Given the description of an element on the screen output the (x, y) to click on. 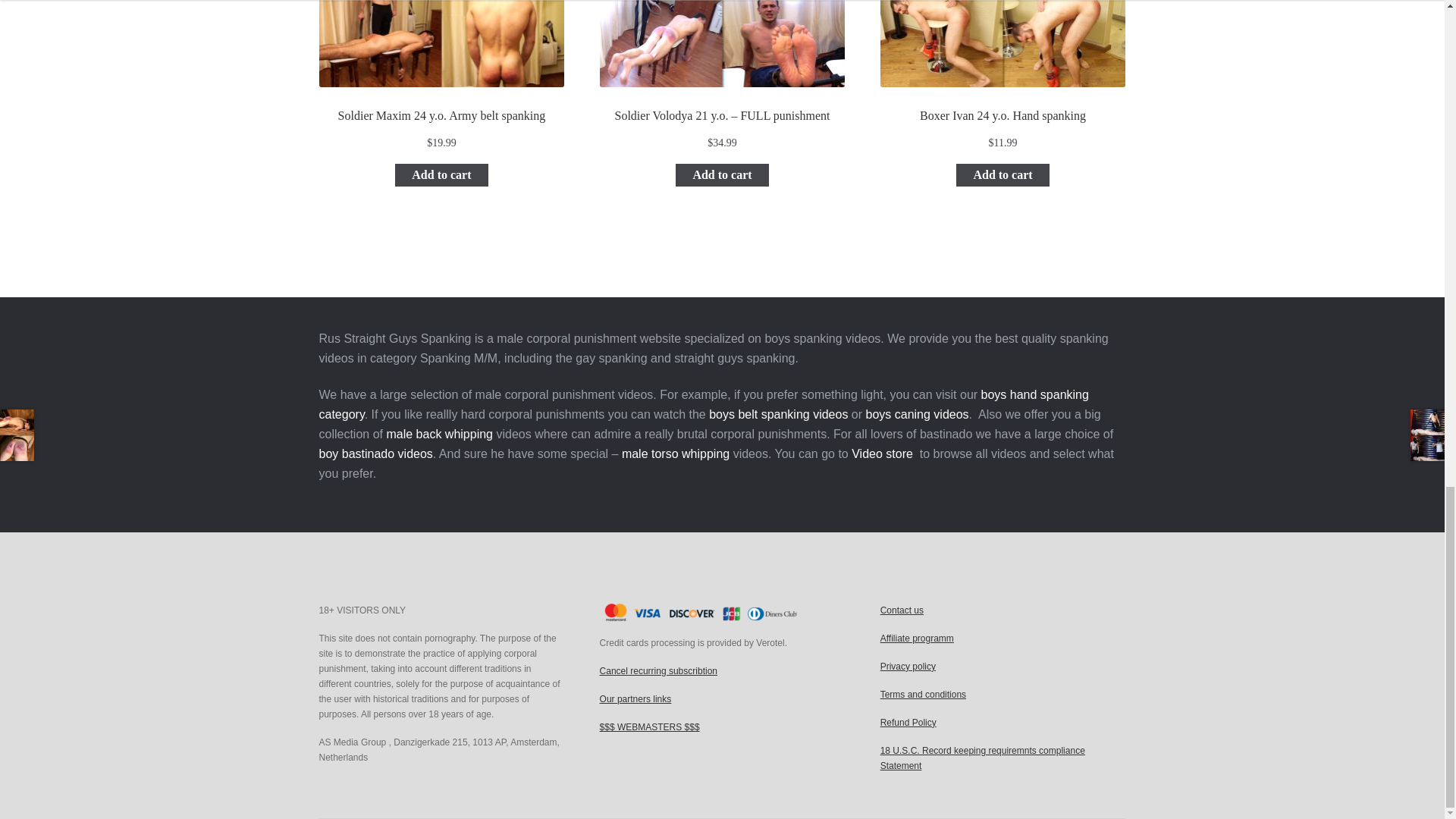
boys hand spanking category (703, 404)
boys caning videos (917, 413)
Add to cart (722, 174)
Add to cart (441, 174)
boys belt spanking videos (777, 413)
Add to cart (1002, 174)
